Given the description of an element on the screen output the (x, y) to click on. 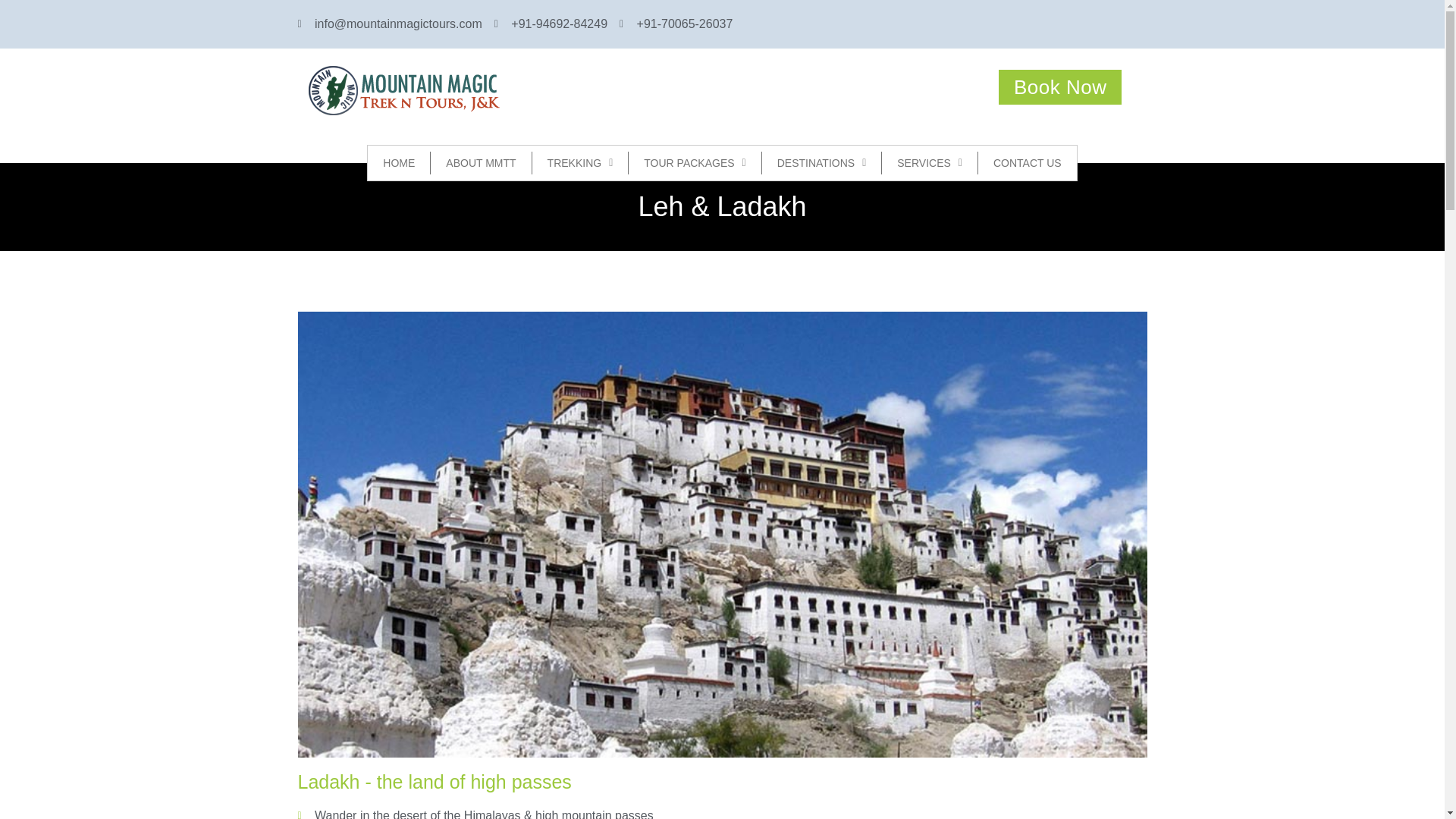
HOME (398, 162)
TOUR PACKAGES (694, 162)
SERVICES (929, 162)
DESTINATIONS (821, 162)
TREKKING (580, 162)
Book Now (1059, 87)
ABOUT MMTT (480, 162)
